Given the description of an element on the screen output the (x, y) to click on. 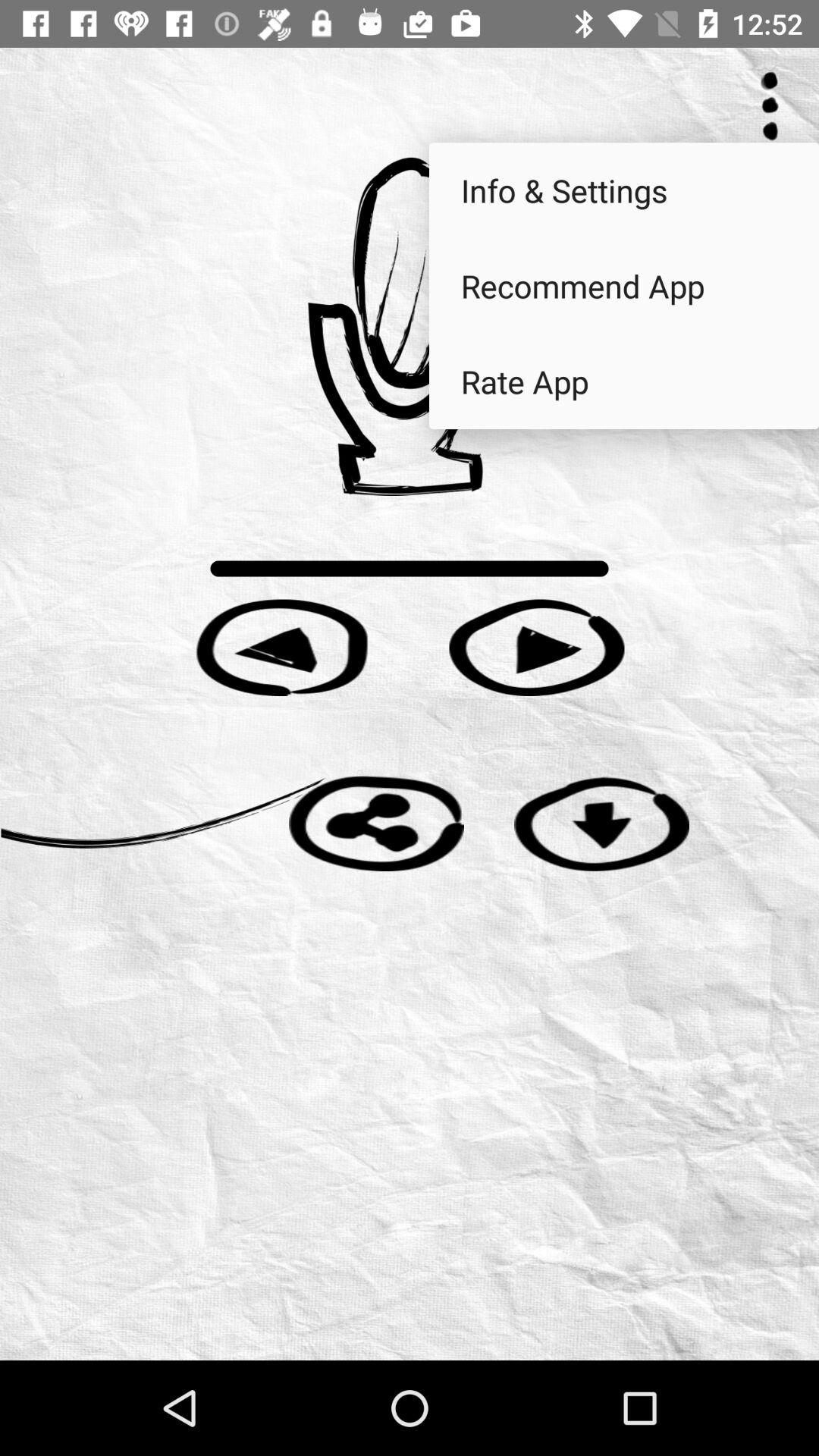
talk forward (536, 647)
